Given the description of an element on the screen output the (x, y) to click on. 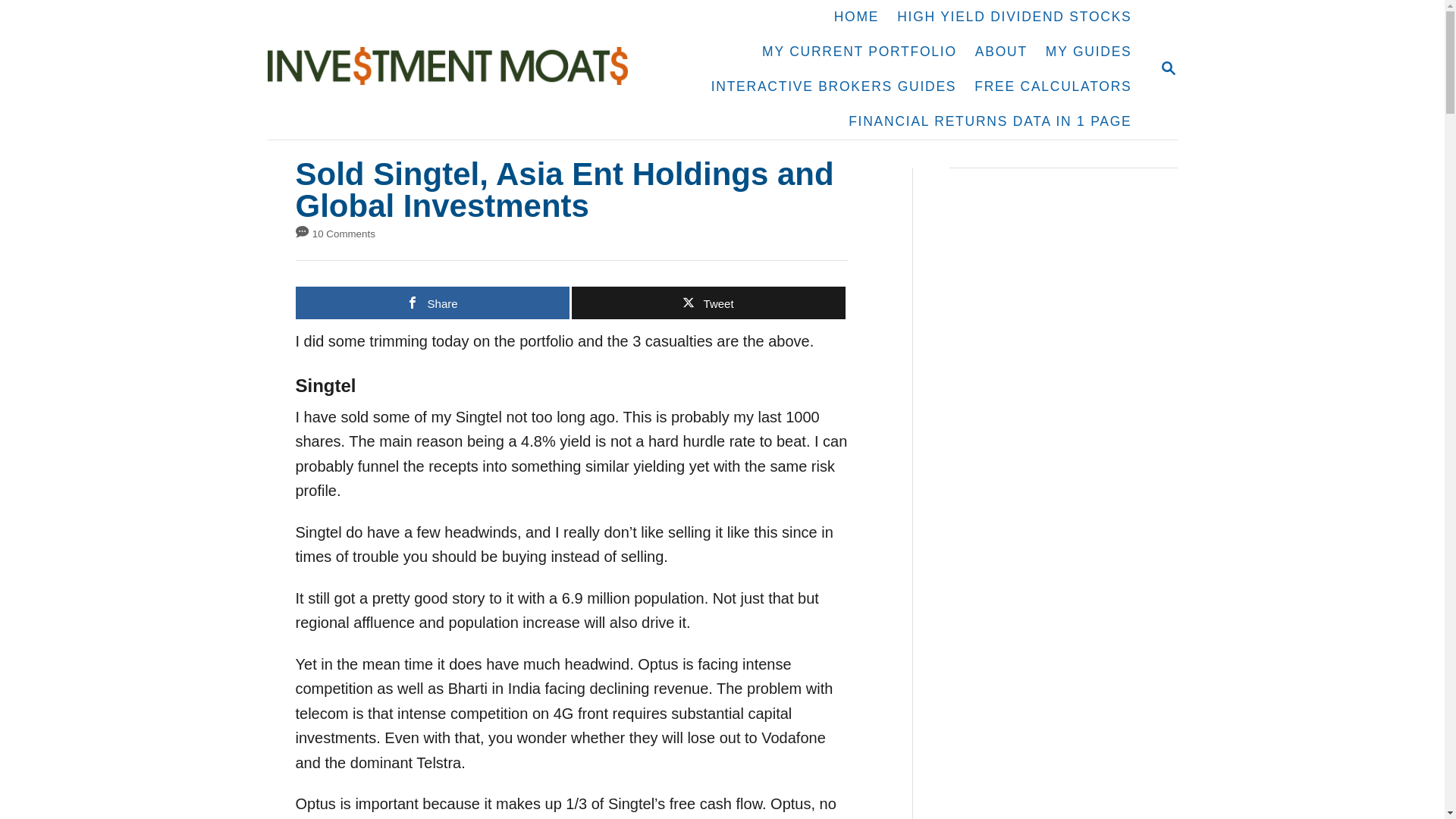
FINANCIAL RETURNS DATA IN 1 PAGE (990, 121)
HOME (1167, 68)
MAGNIFYING GLASS (856, 17)
MY CURRENT PORTFOLIO (1167, 67)
MY GUIDES (859, 52)
Tweet (1088, 52)
Share (708, 302)
HIGH YIELD DIVIDEND STOCKS (432, 302)
Investment Moats (1014, 17)
ABOUT (455, 69)
INTERACTIVE BROKERS GUIDES (1001, 52)
FREE CALCULATORS (833, 86)
